Given the description of an element on the screen output the (x, y) to click on. 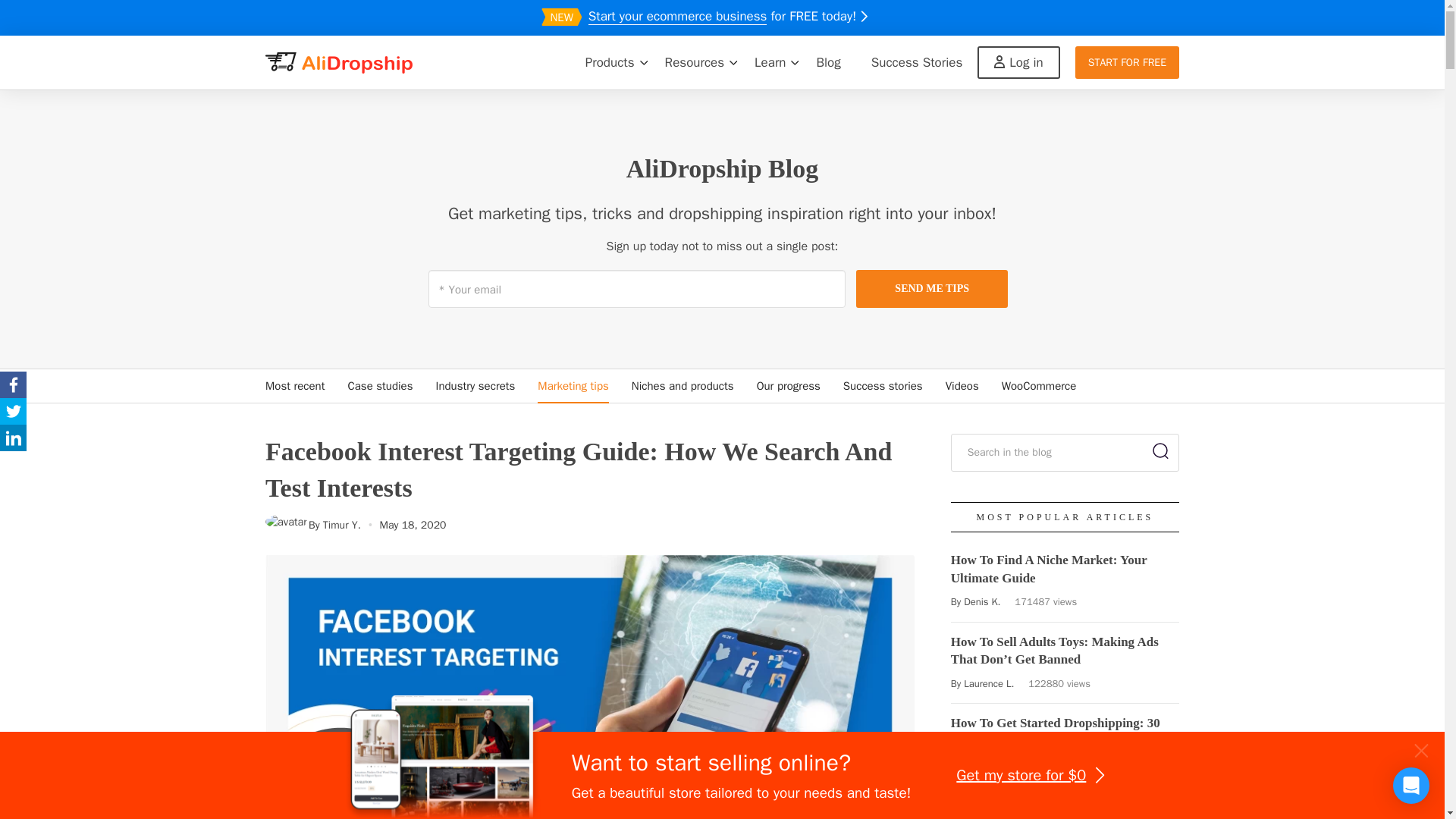
Share with Facebook (13, 384)
Learn (769, 62)
Blog (828, 62)
Resources (694, 62)
Success Stories (917, 62)
Products (609, 62)
Share with LinkedIn (13, 438)
Log in (1017, 61)
Share with Twitter (13, 411)
START FOR FREE (1127, 61)
SEND ME TIPS (931, 288)
